Given the description of an element on the screen output the (x, y) to click on. 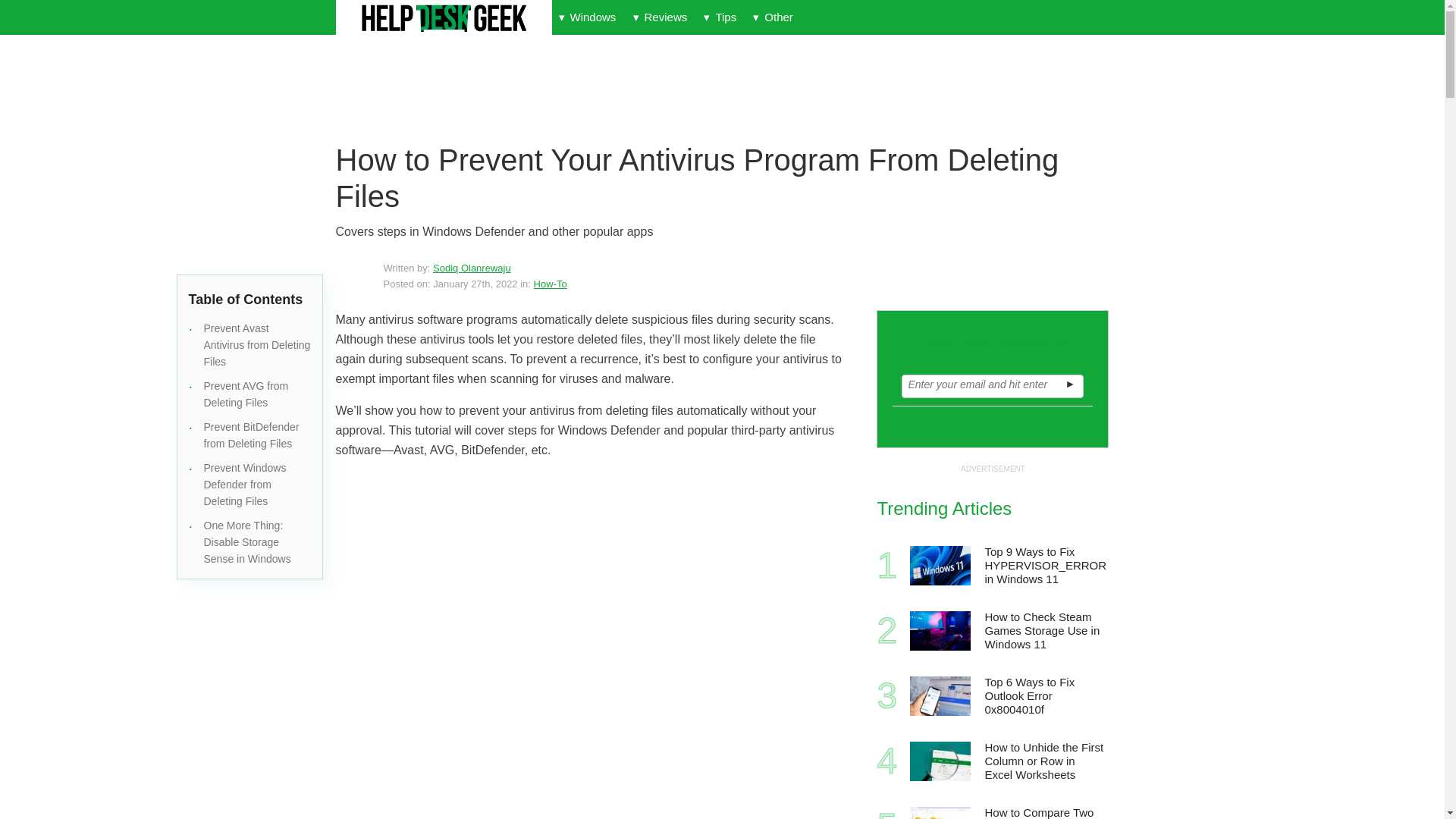
Top 6 Ways to Fix Outlook Error 0x8004010f (940, 695)
Thursday, January 27, 2022, 6:00 am (474, 283)
How to Check Steam Games Storage Use in Windows 11 (1044, 630)
Other (772, 17)
Help Desk Geek (443, 17)
Tips (719, 17)
How to Unhide the First Column or Row in Excel Worksheets (1044, 760)
Help Desk Geek (443, 17)
Top 6 Ways to Fix Outlook Error 0x8004010f (1044, 695)
How to Check Steam Games Storage Use in Windows 11 (940, 630)
